Given the description of an element on the screen output the (x, y) to click on. 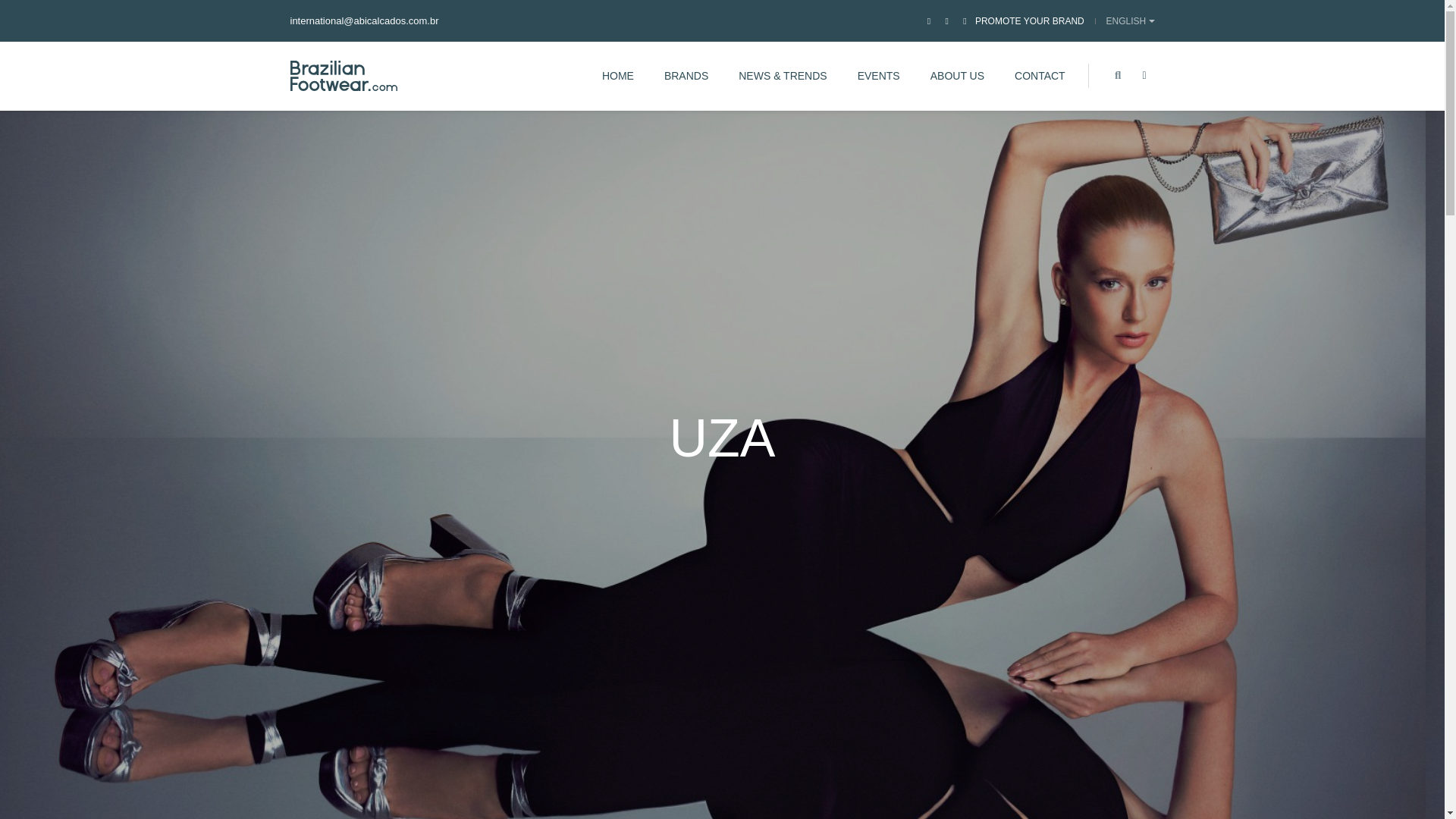
ENGLISH (1129, 20)
Brazilian Footwear (343, 75)
Instagram (946, 20)
Facebook (928, 20)
Linked In (964, 20)
PROMOTE YOUR BRAND (1029, 20)
CONTACT (1039, 75)
ABOUT US (957, 75)
